Given the description of an element on the screen output the (x, y) to click on. 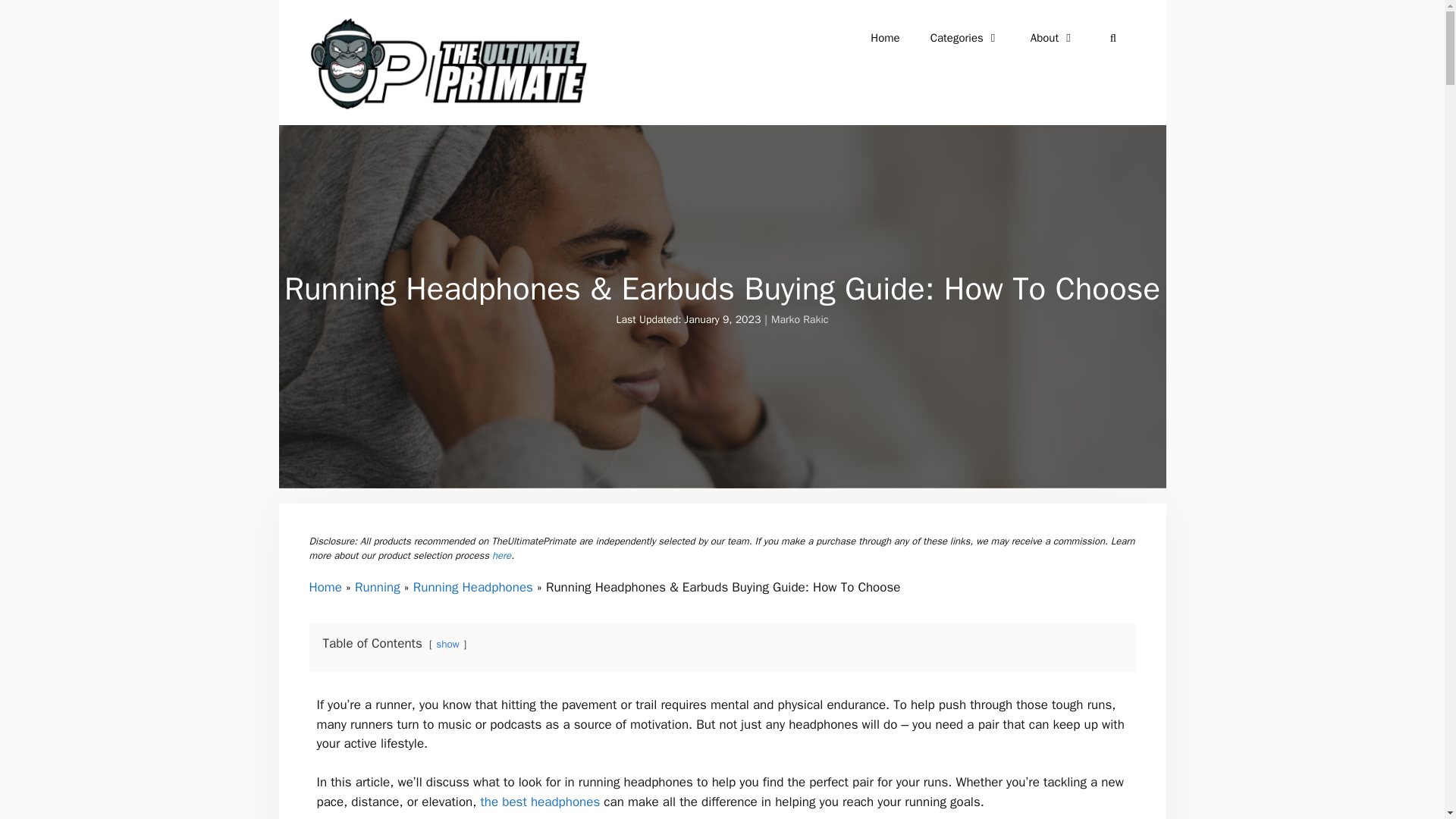
show (447, 644)
Categories (964, 37)
Running Headphones (472, 587)
Running (377, 587)
Home (325, 587)
View all posts by Marko Rakic (799, 318)
Marko Rakic (799, 318)
About (1052, 37)
Home (885, 37)
here (501, 554)
